Given the description of an element on the screen output the (x, y) to click on. 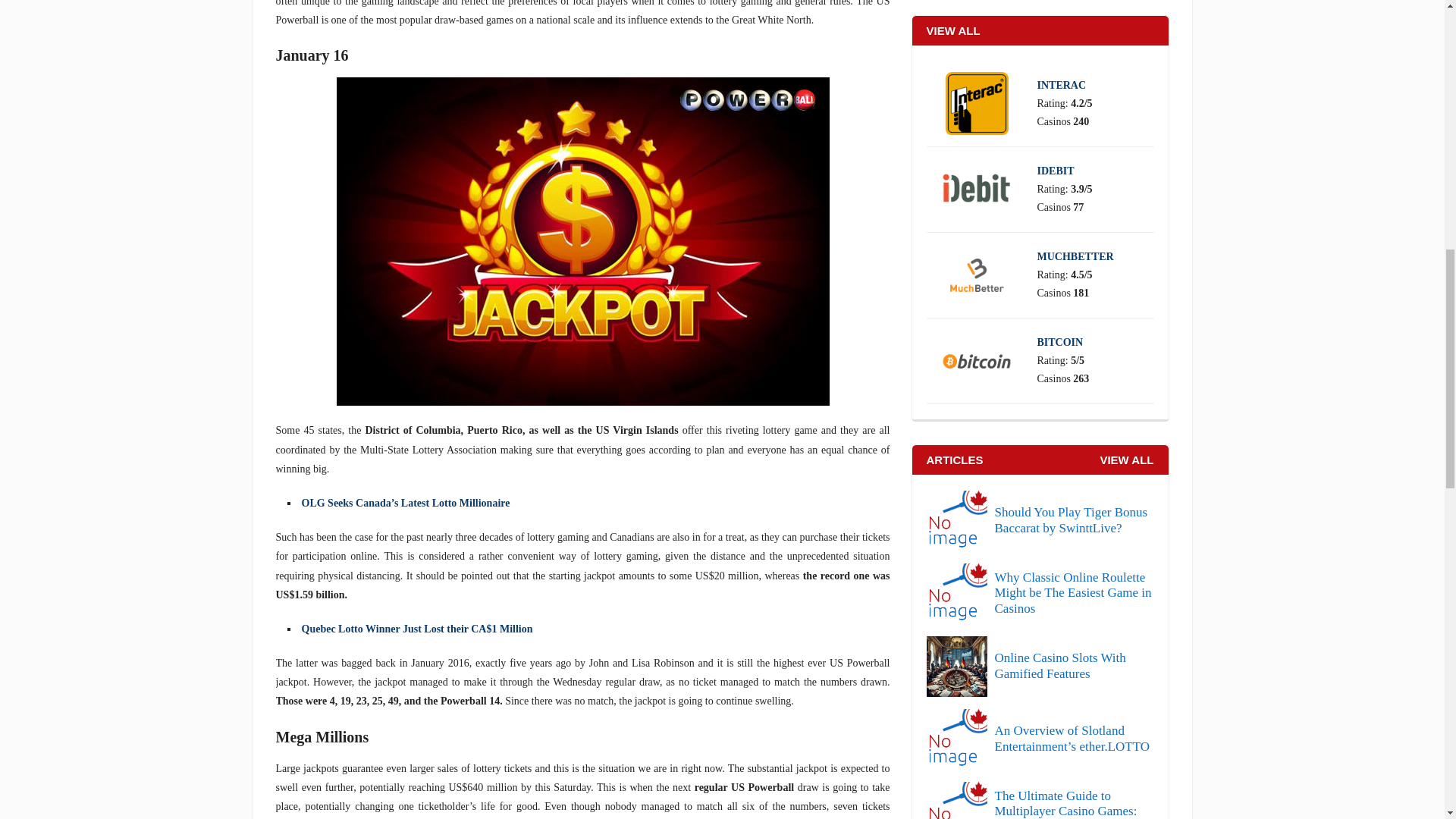
Should You Play Tiger Bonus Baccarat by SwinttLive? (1040, 520)
Online Casino Slots With Gamified Features (1040, 666)
